Given the description of an element on the screen output the (x, y) to click on. 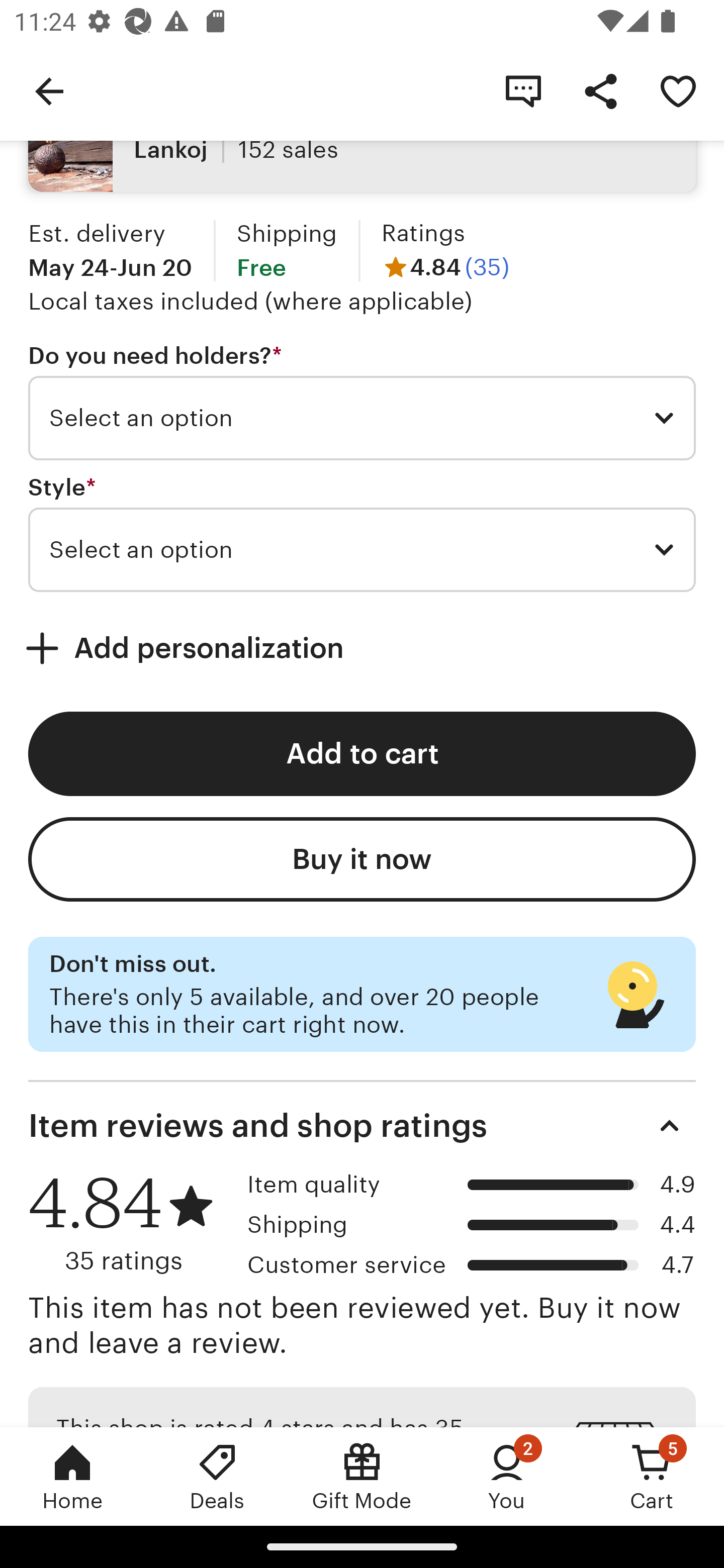
Navigate up (49, 90)
Contact shop (523, 90)
Share (600, 90)
Lankoj 152 sales (361, 149)
Ratings (423, 232)
4.84 (35) (444, 267)
Do you need holders? * Required Select an option (361, 401)
Select an option (361, 418)
Style * Required Select an option (361, 533)
Select an option (361, 550)
Add personalization Add personalization Required (362, 647)
Add to cart (361, 753)
Buy it now (361, 858)
Item reviews and shop ratings (362, 1125)
4.84 35 ratings (130, 1222)
Deals (216, 1475)
Gift Mode (361, 1475)
You, 2 new notifications You (506, 1475)
Cart, 5 new notifications Cart (651, 1475)
